Given the description of an element on the screen output the (x, y) to click on. 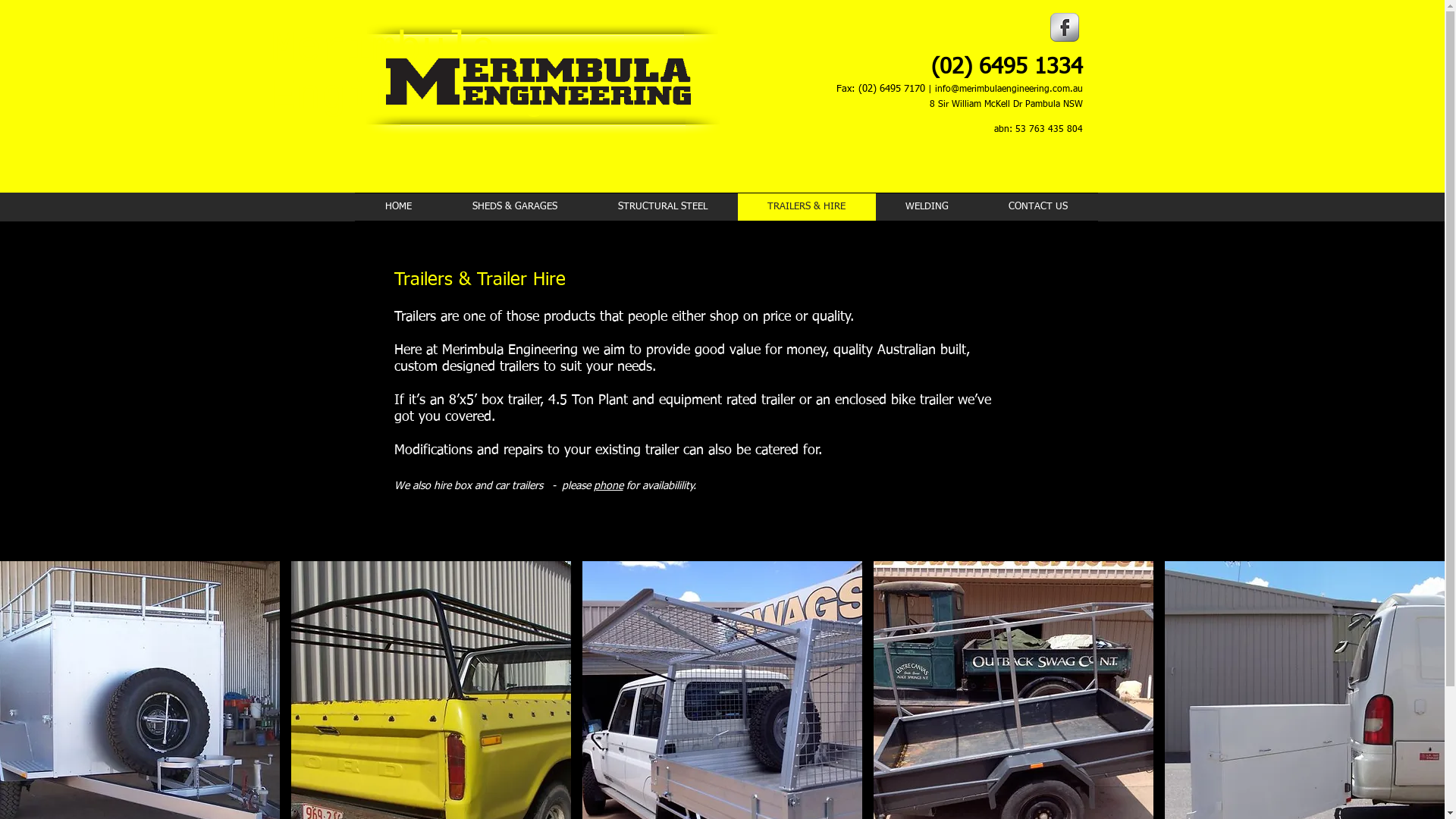
HOME Element type: text (398, 206)
phone Element type: text (607, 485)
WELDING Element type: text (926, 206)
SHEDS & GARAGES Element type: text (513, 206)
| info@merimbulaengineering.com.au Element type: text (1003, 85)
STRUCTURAL STEEL Element type: text (661, 206)
Merimbula Enginnering Element type: hover (537, 81)
CONTACT US Element type: text (1037, 206)
TRAILERS & HIRE Element type: text (806, 206)
